Given the description of an element on the screen output the (x, y) to click on. 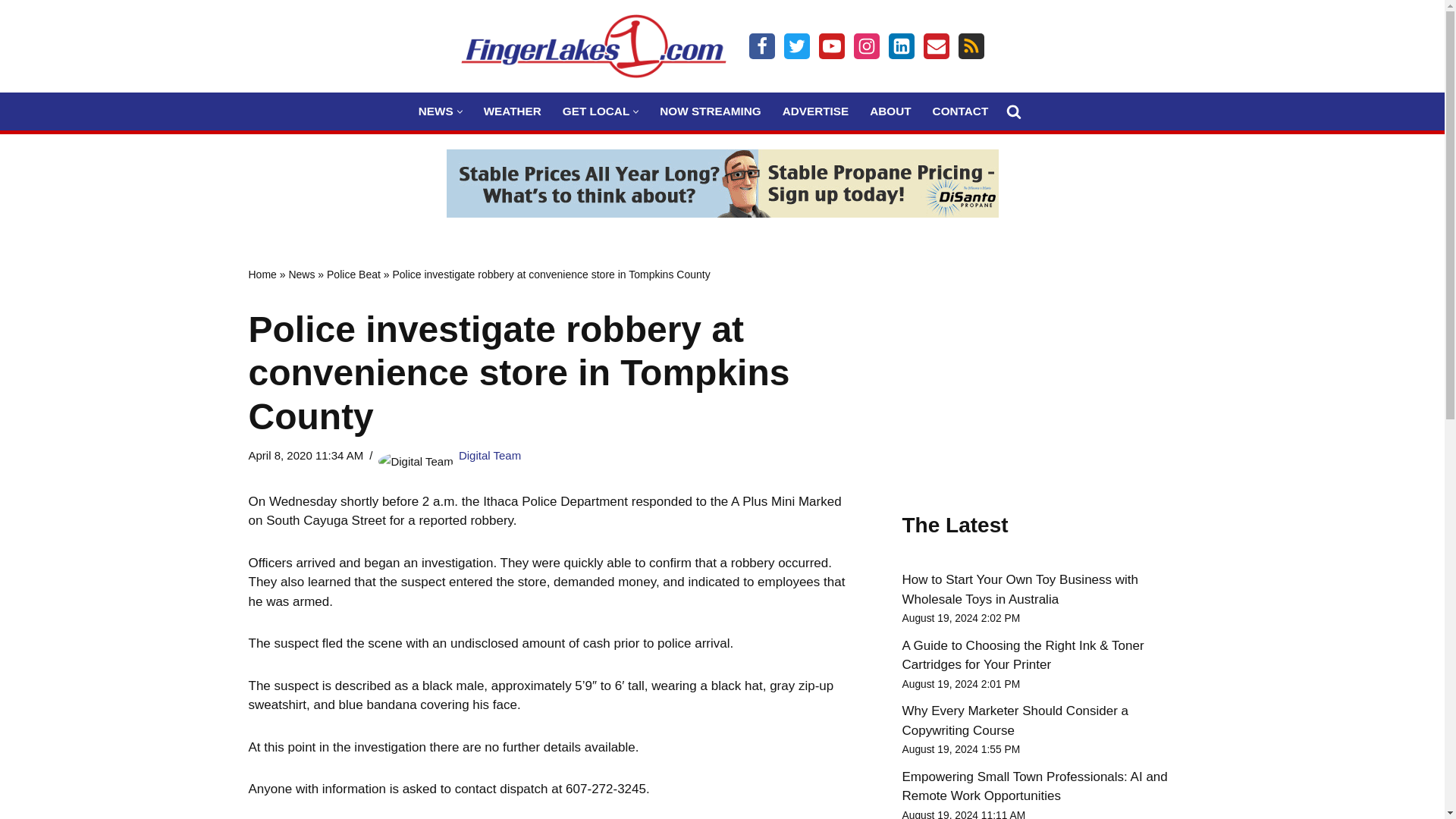
Feed (971, 45)
LinkIn (901, 45)
CONTACT (960, 111)
Facebook (761, 45)
NEWS (435, 111)
NOW STREAMING (709, 111)
ADVERTISE (815, 111)
Posts by Digital Team (489, 454)
Twitter (796, 45)
Youtube (831, 45)
